Given the description of an element on the screen output the (x, y) to click on. 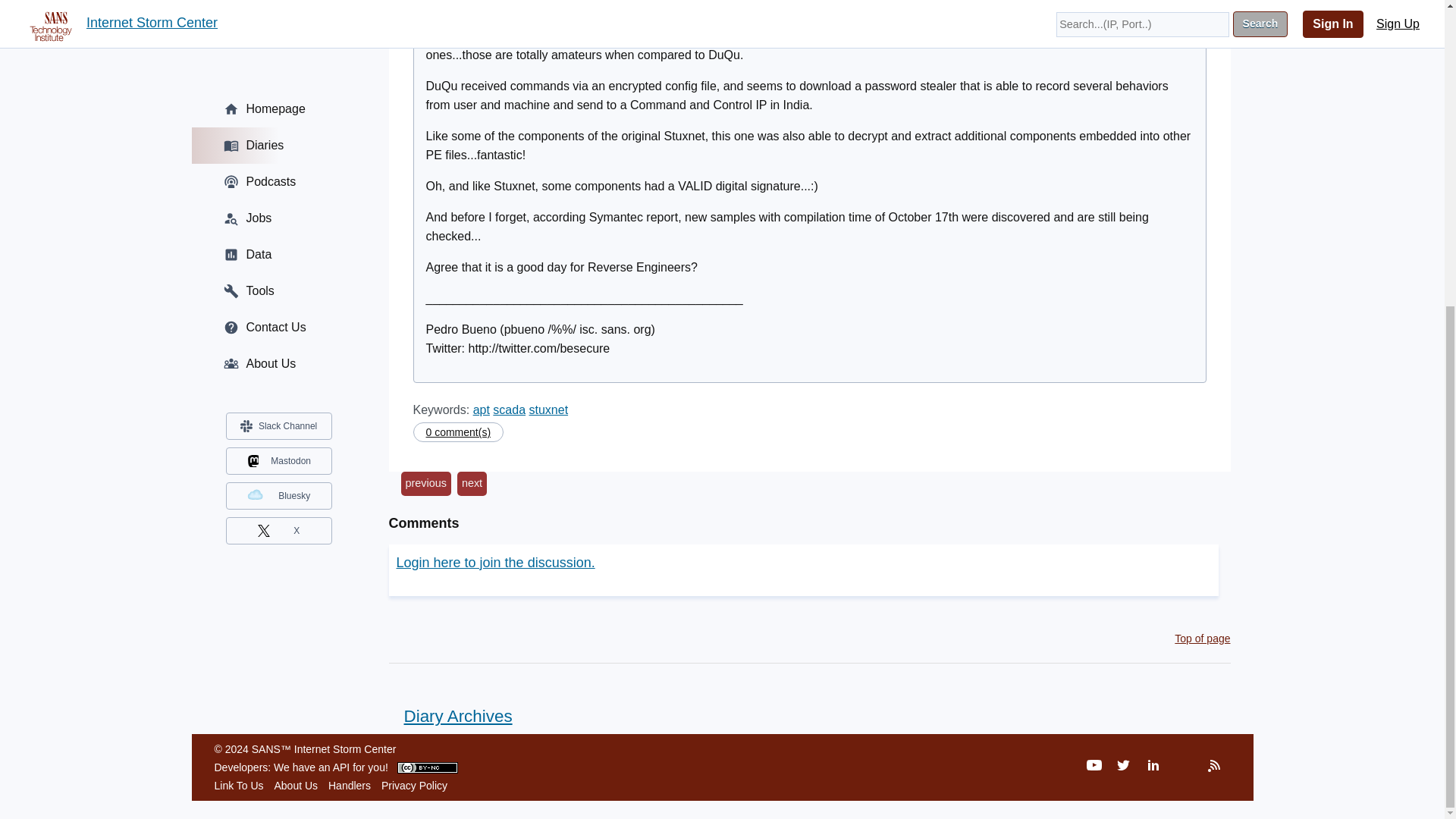
next (471, 483)
apt (481, 409)
previous (424, 483)
stuxnet (549, 409)
Login here to join the discussion. (495, 562)
scada (509, 409)
Diary Archives (450, 715)
Top of page (1202, 638)
